Given the description of an element on the screen output the (x, y) to click on. 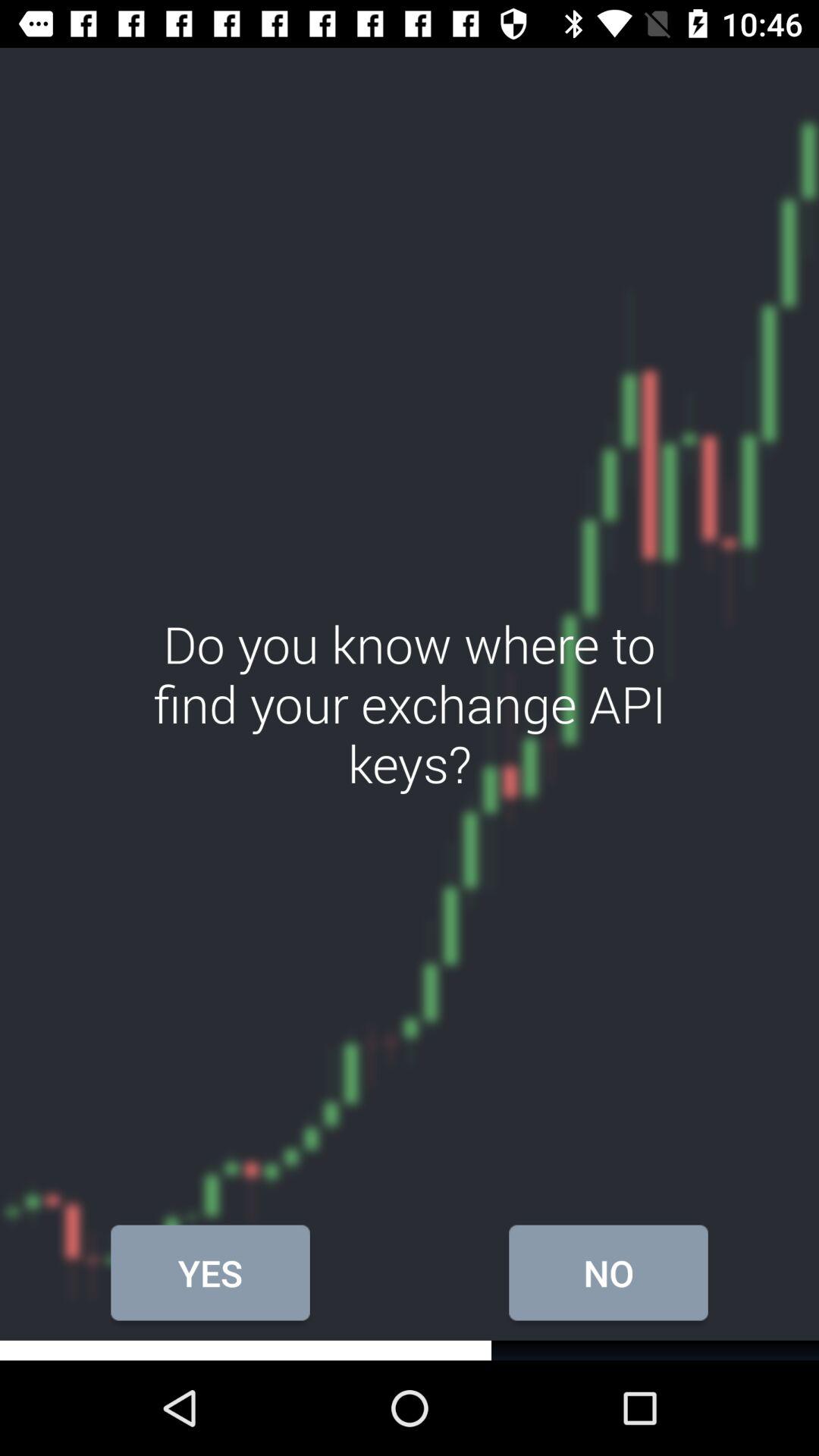
turn off the icon next to the no icon (209, 1272)
